Given the description of an element on the screen output the (x, y) to click on. 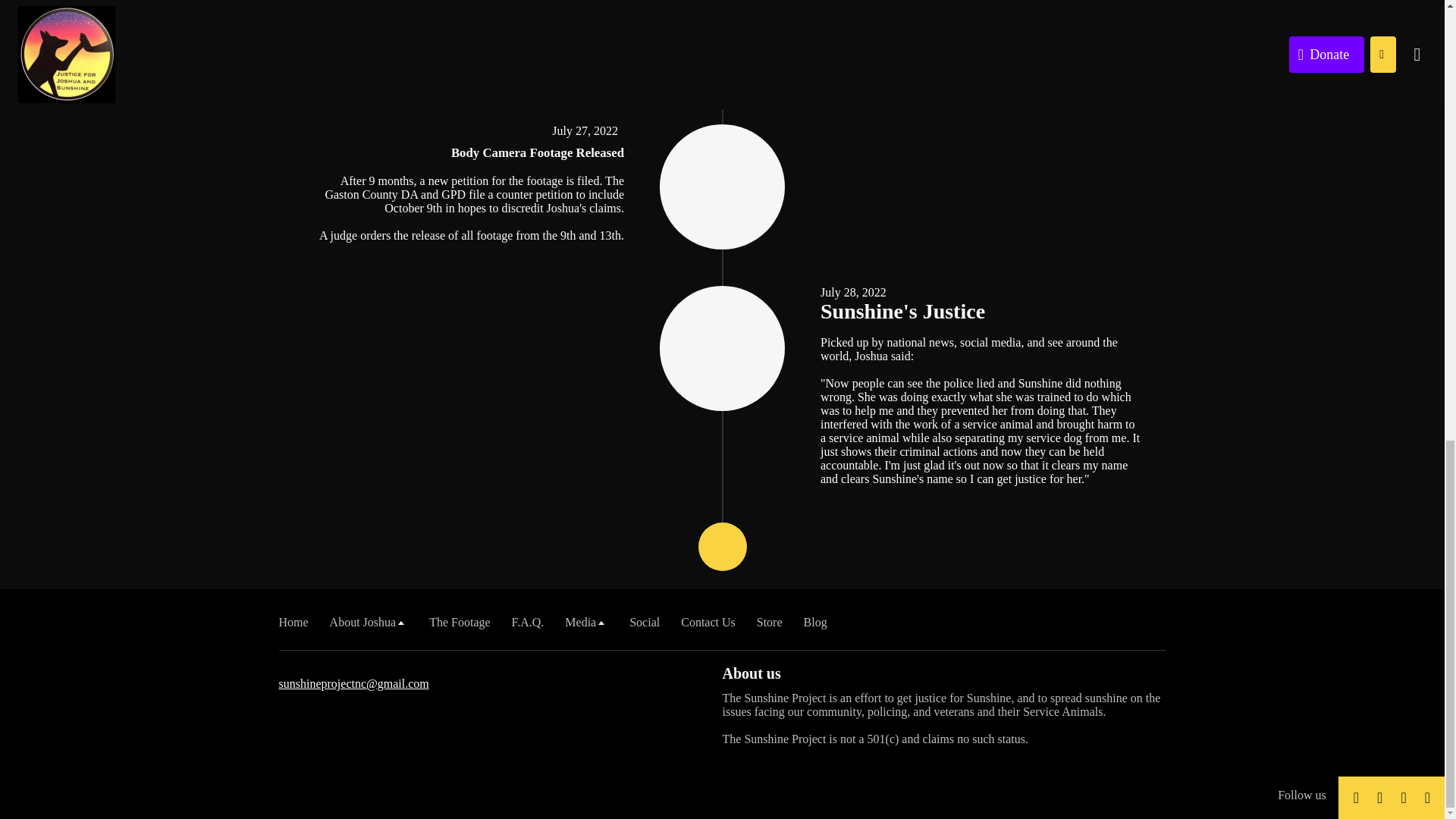
The Footage (459, 621)
Blog (815, 621)
F.A.Q. (528, 621)
Media (586, 621)
Social (643, 621)
About Joshua (369, 621)
Store (770, 621)
Contact Us (708, 621)
Home (293, 621)
